Given the description of an element on the screen output the (x, y) to click on. 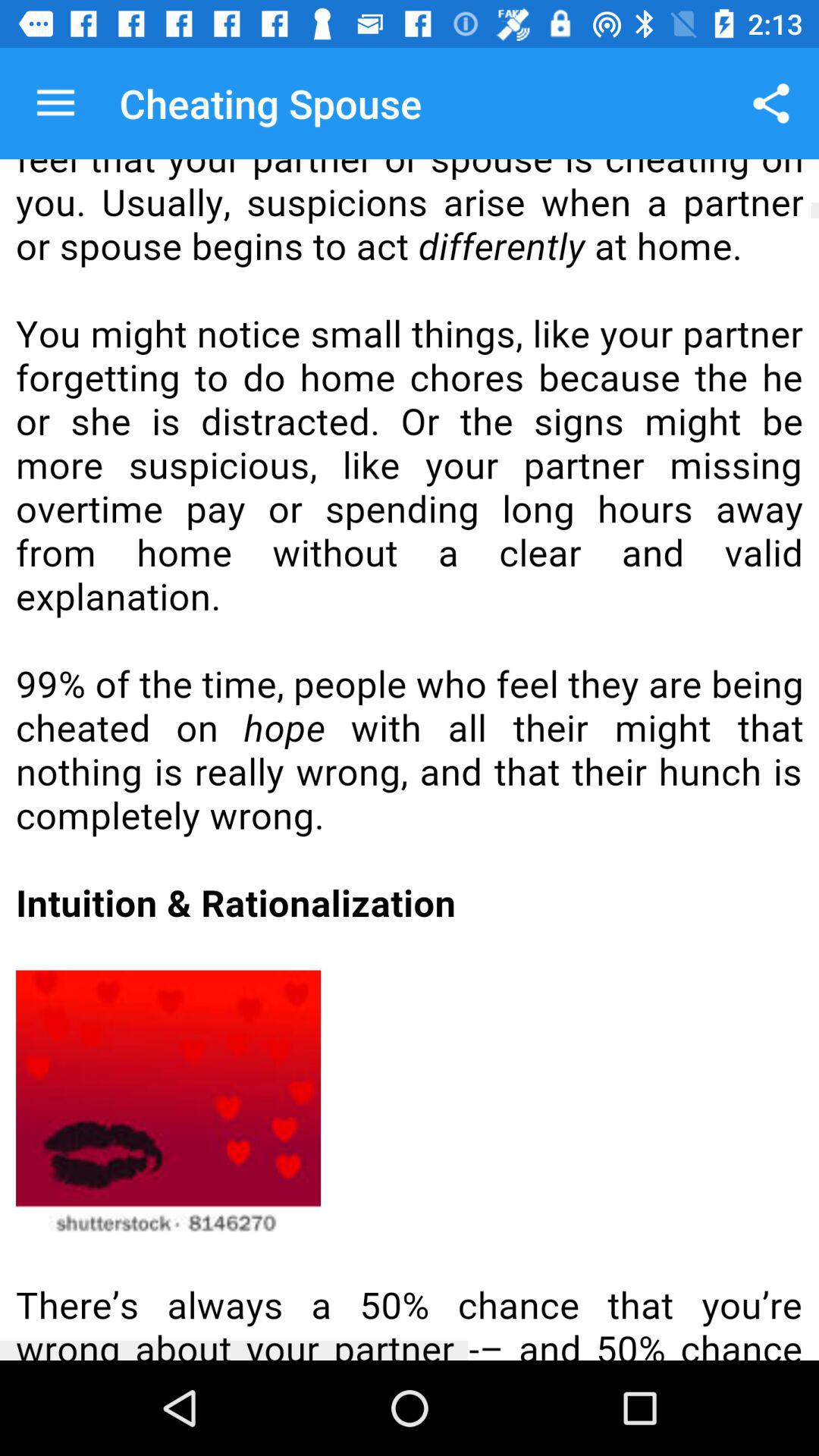
select text (409, 759)
